Given the description of an element on the screen output the (x, y) to click on. 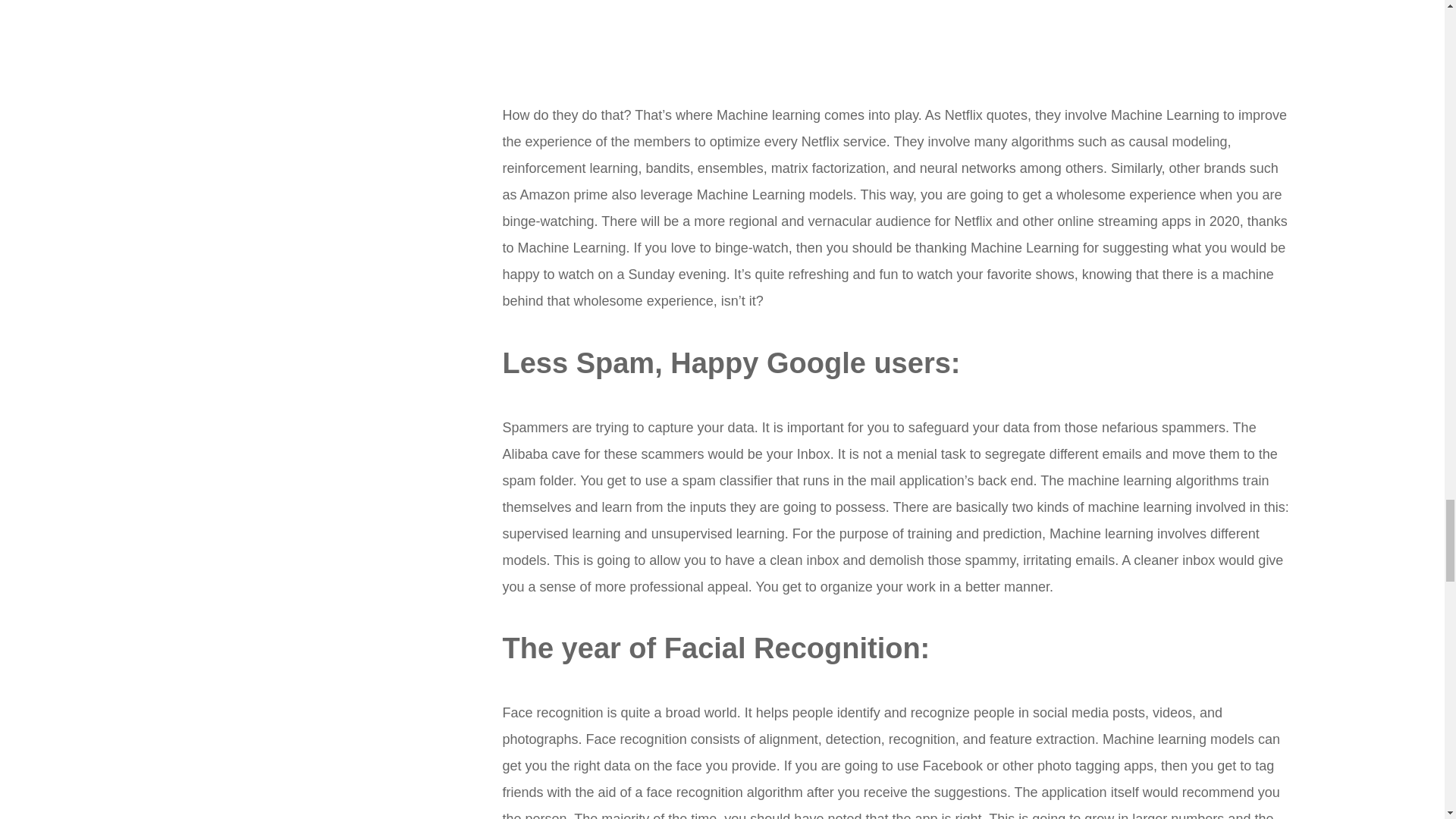
AI based live streaming product development company (890, 44)
